Given the description of an element on the screen output the (x, y) to click on. 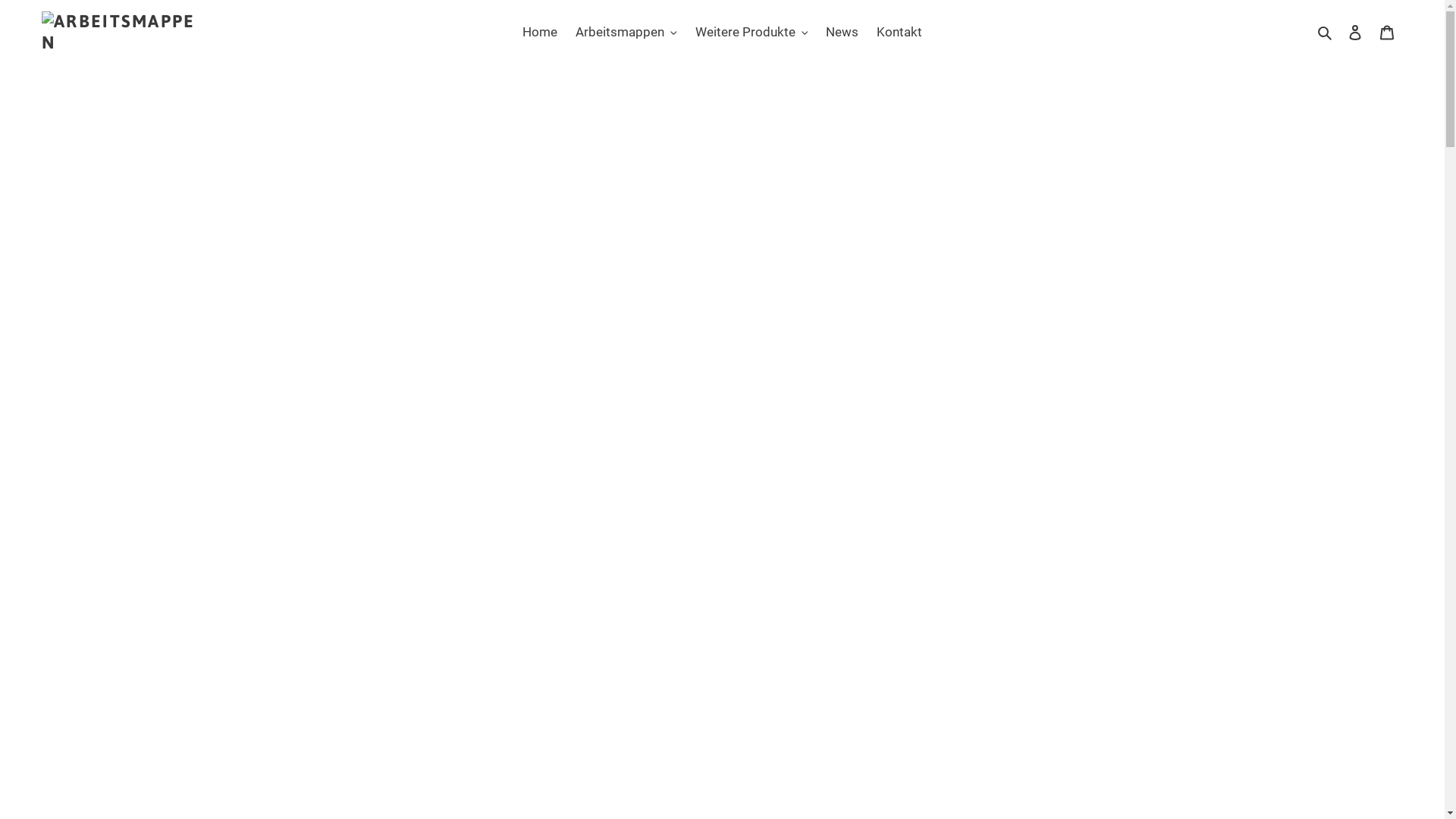
Warenkorb Element type: text (1386, 32)
Weitere Produkte Element type: text (751, 32)
Home Element type: text (539, 32)
Suchen Element type: text (1325, 32)
News Element type: text (842, 32)
Kontakt Element type: text (899, 32)
Arbeitsmappen Element type: text (625, 32)
Einloggen Element type: text (1355, 32)
